Given the description of an element on the screen output the (x, y) to click on. 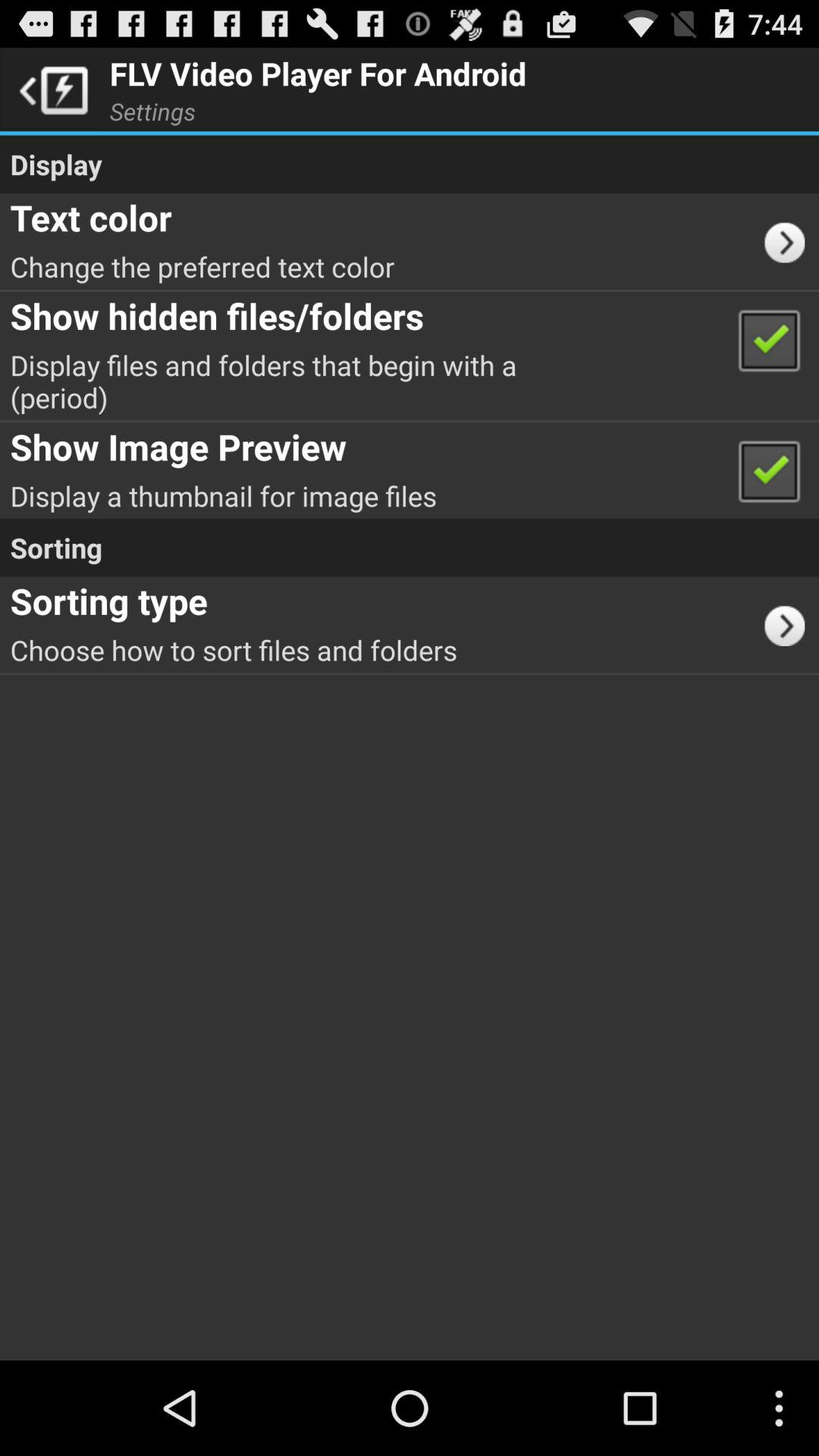
turn off the item to the left of the flv video player icon (49, 89)
